Given the description of an element on the screen output the (x, y) to click on. 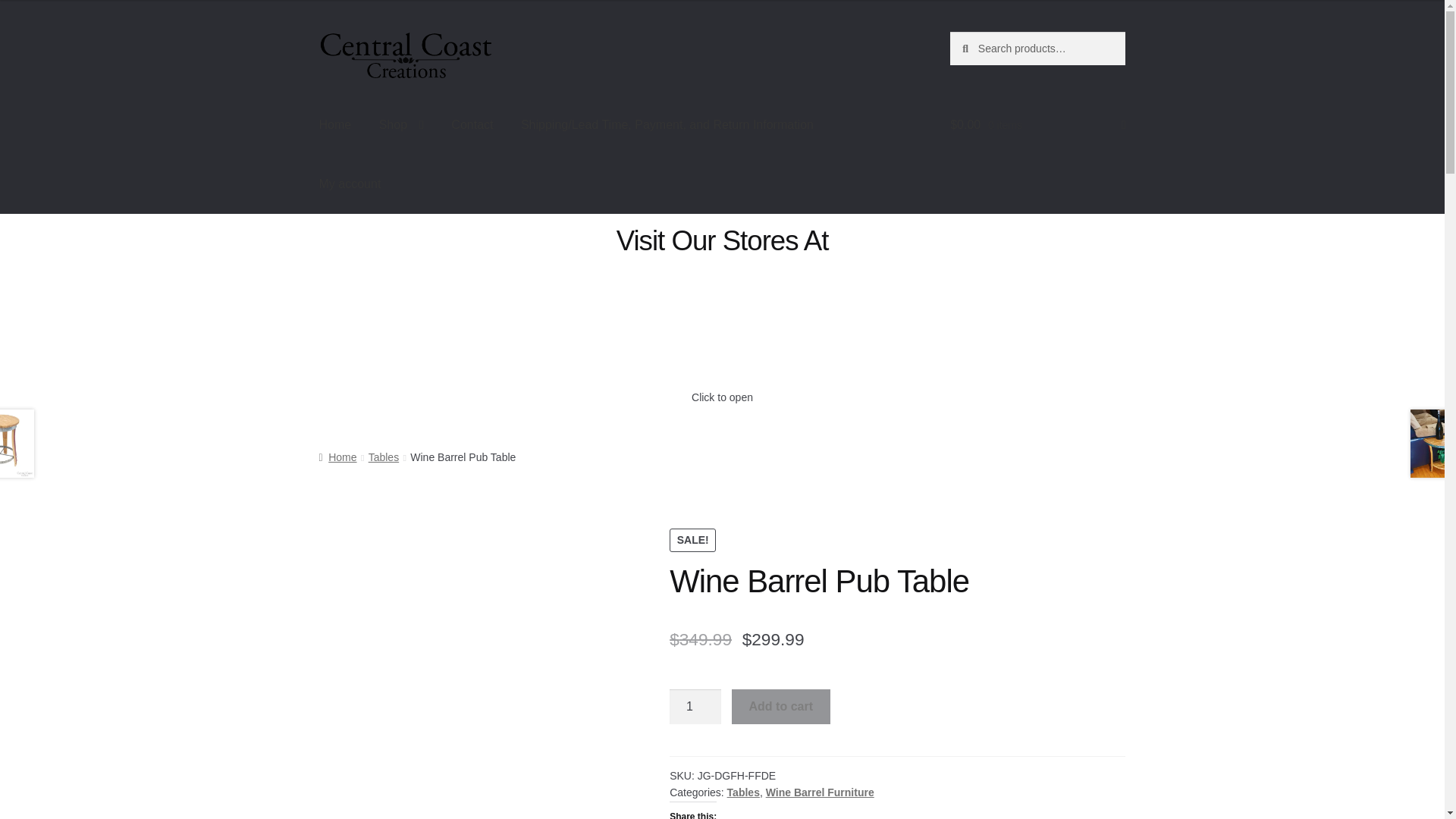
1 (694, 706)
Wine Barrel Furniture (820, 792)
Shop (400, 124)
Qty (694, 706)
Contact (472, 124)
Add to cart (780, 706)
Tables (383, 457)
Home (335, 124)
My account (350, 183)
